Given the description of an element on the screen output the (x, y) to click on. 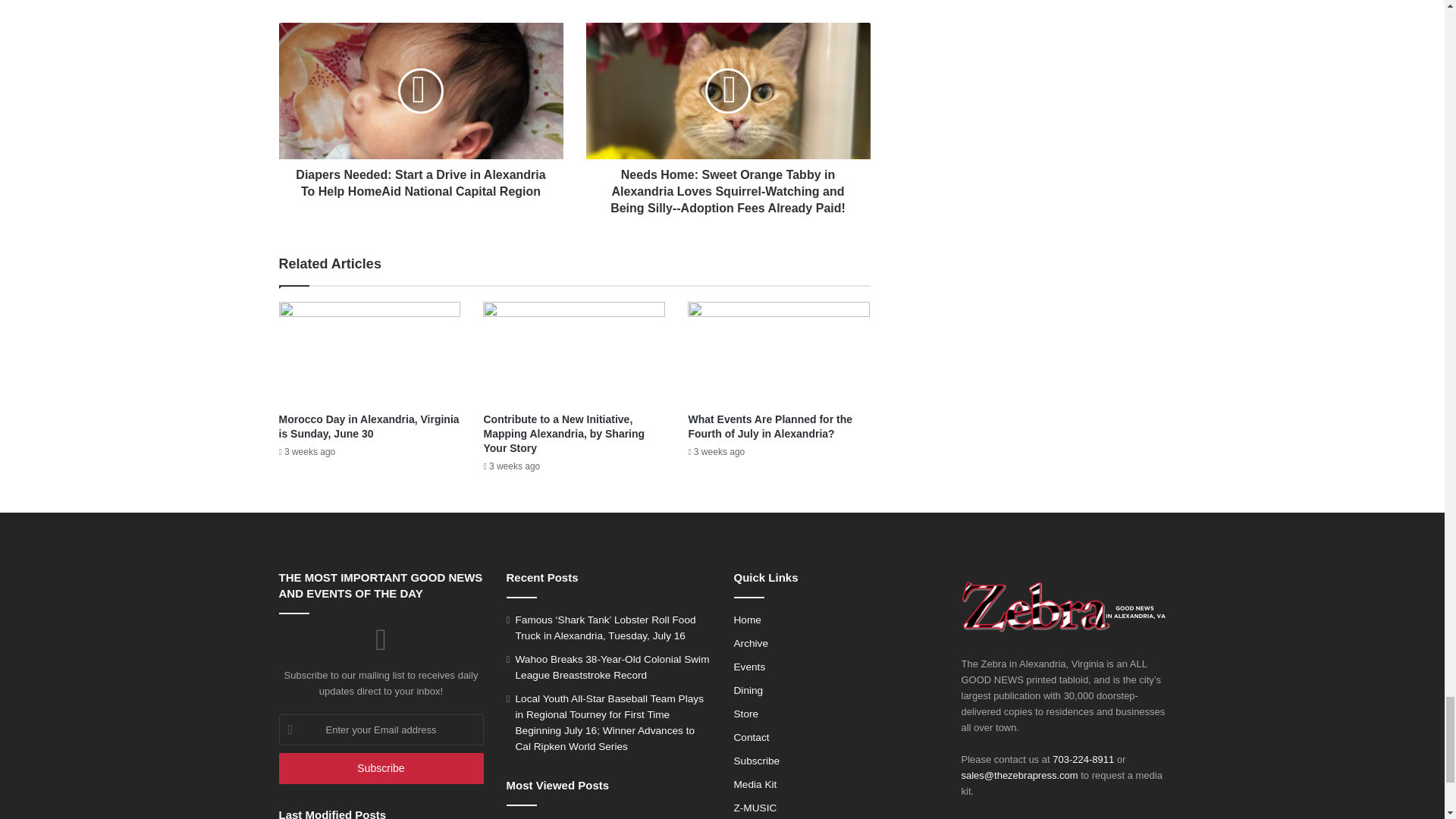
Subscribe (381, 767)
